Given the description of an element on the screen output the (x, y) to click on. 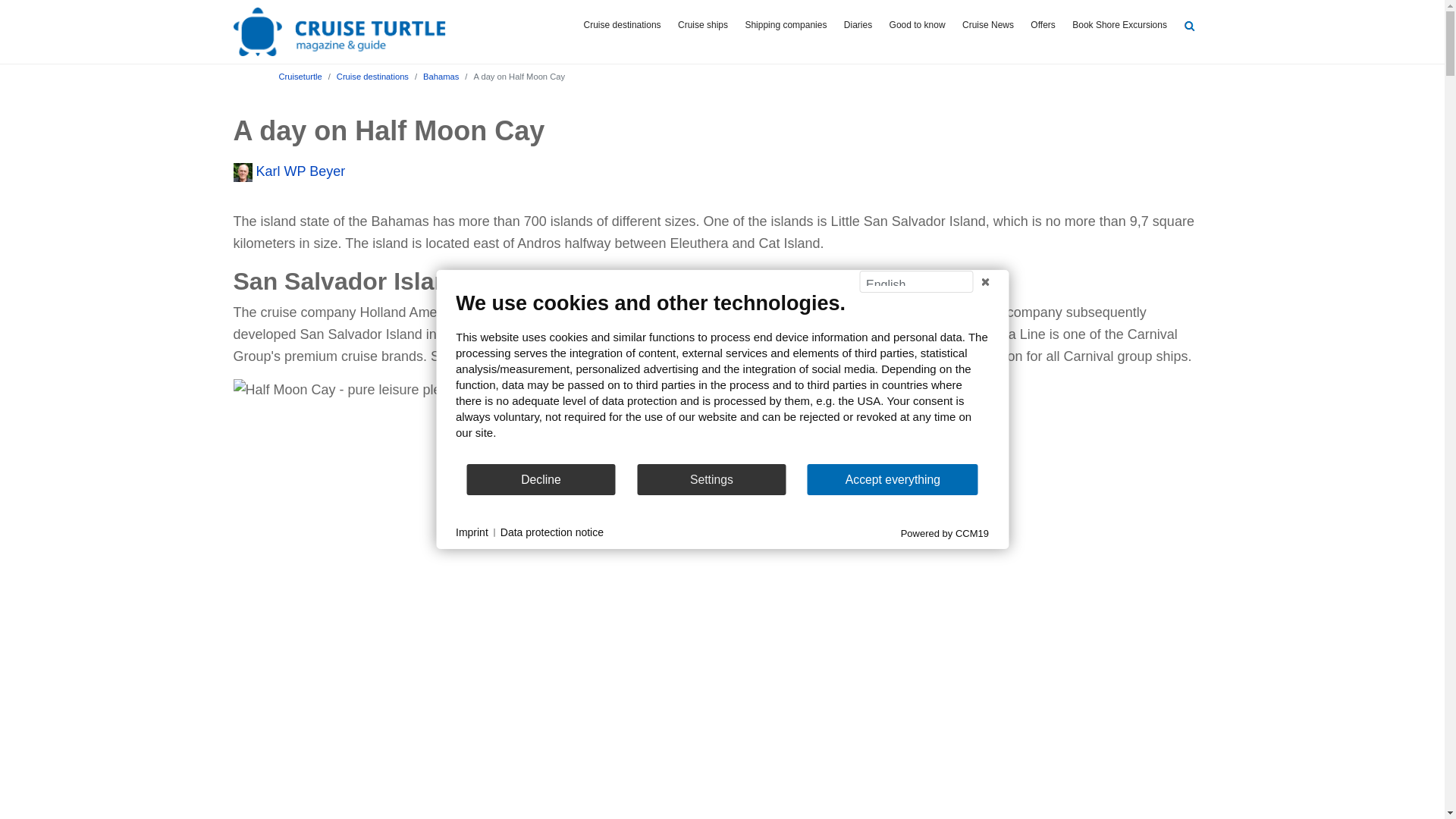
Karl WP Beyer (289, 171)
Offers (1043, 25)
Cruise News (987, 25)
Cruise destinations (621, 25)
Book Shore Excursions (1119, 25)
Bahamas (440, 76)
Shipping companies (785, 25)
Cruise ships (702, 25)
Diaries (857, 25)
Good to know (916, 25)
Cruiseturtle (300, 76)
Cruise destinations (372, 76)
